Given the description of an element on the screen output the (x, y) to click on. 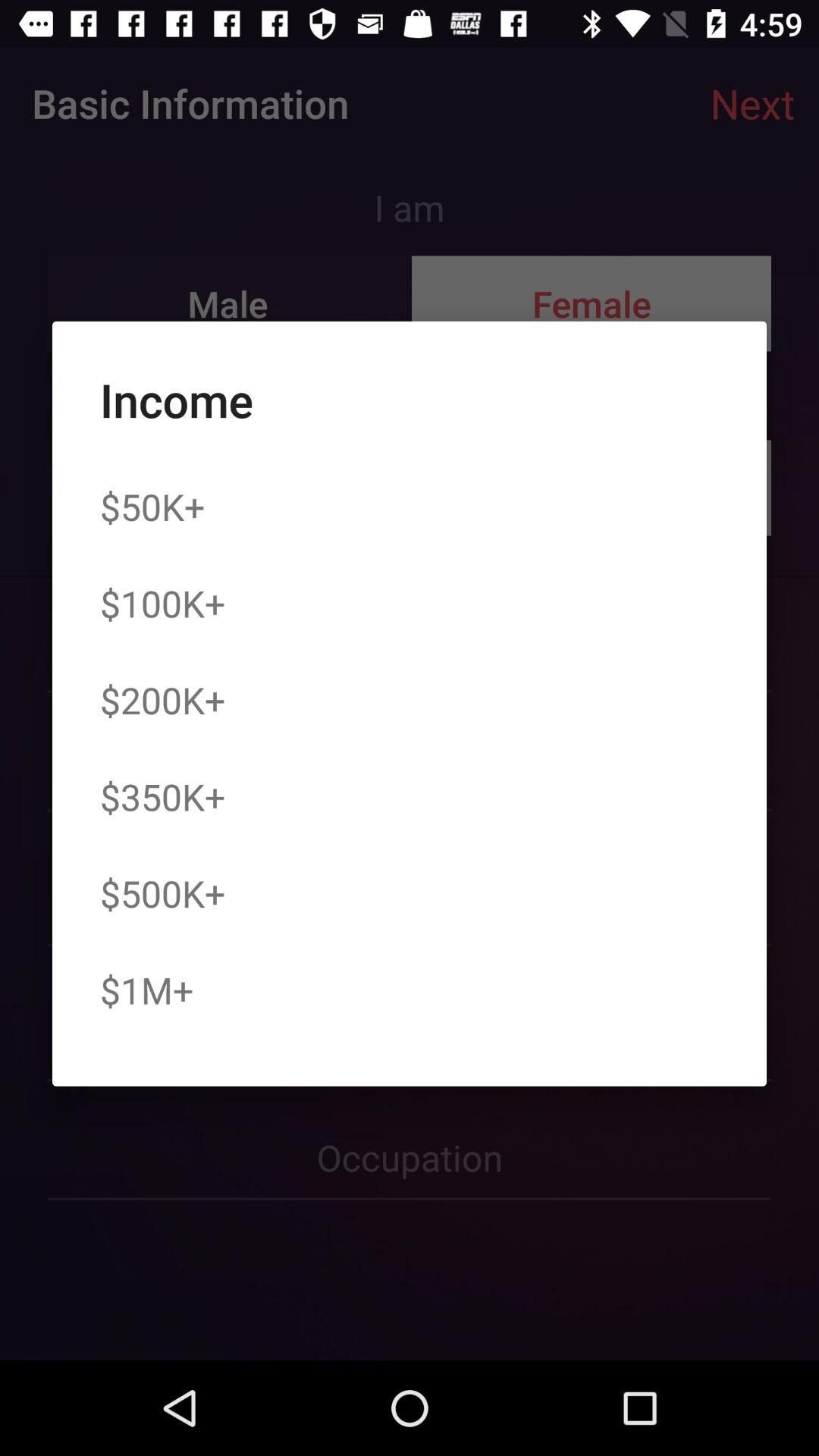
turn off $1m+ (146, 989)
